Given the description of an element on the screen output the (x, y) to click on. 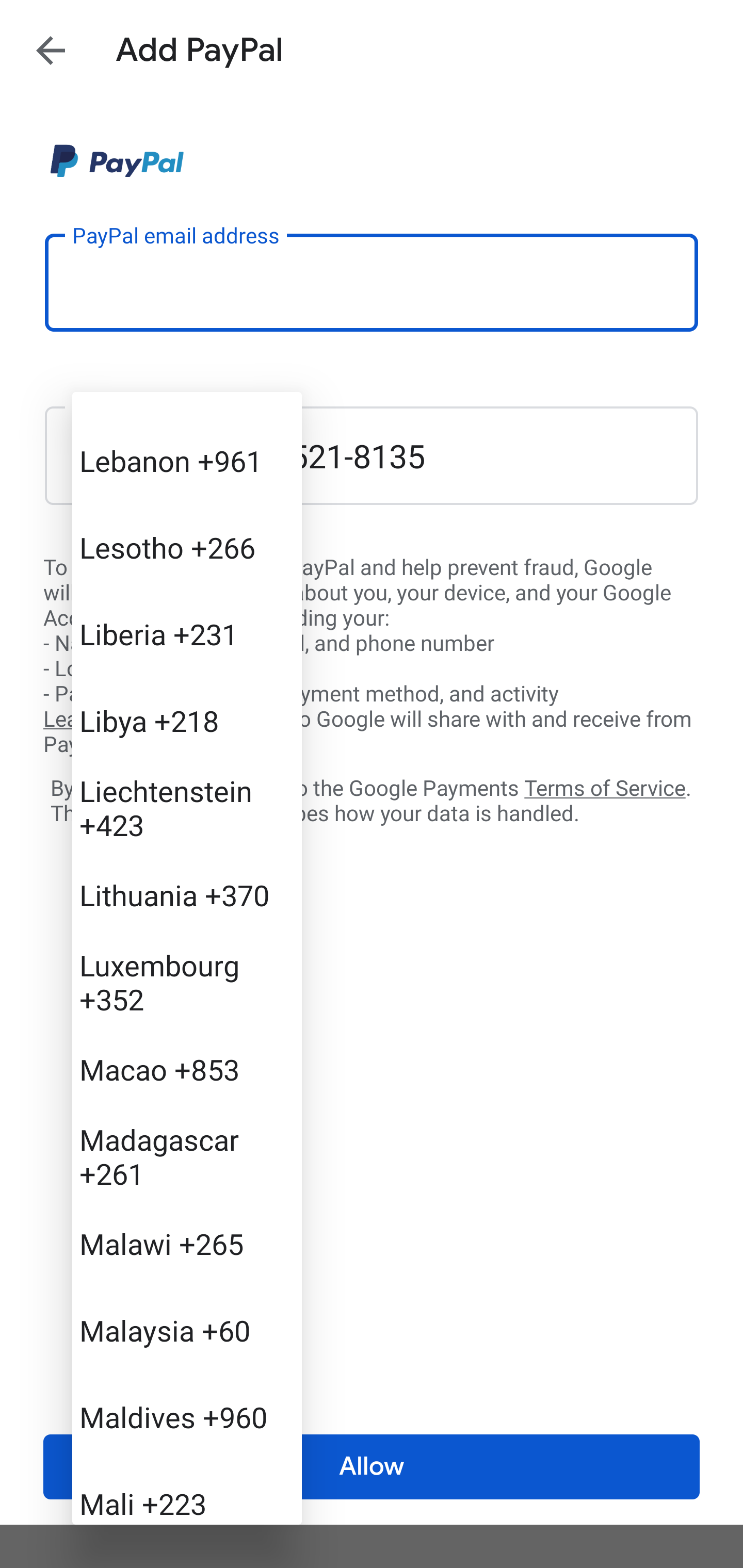
Lebanon +961 (186, 460)
Lesotho +266 (186, 547)
Liberia +231 (186, 634)
Libya +218 (186, 720)
Liechtenstein +423 (186, 807)
Lithuania +370 (186, 894)
Luxembourg +352 (186, 981)
Macao +853 (186, 1069)
Madagascar +261 (186, 1156)
Malawi +265 (186, 1243)
Malaysia +60 (186, 1330)
Maldives +960 (186, 1416)
Mali +223 (186, 1491)
